Given the description of an element on the screen output the (x, y) to click on. 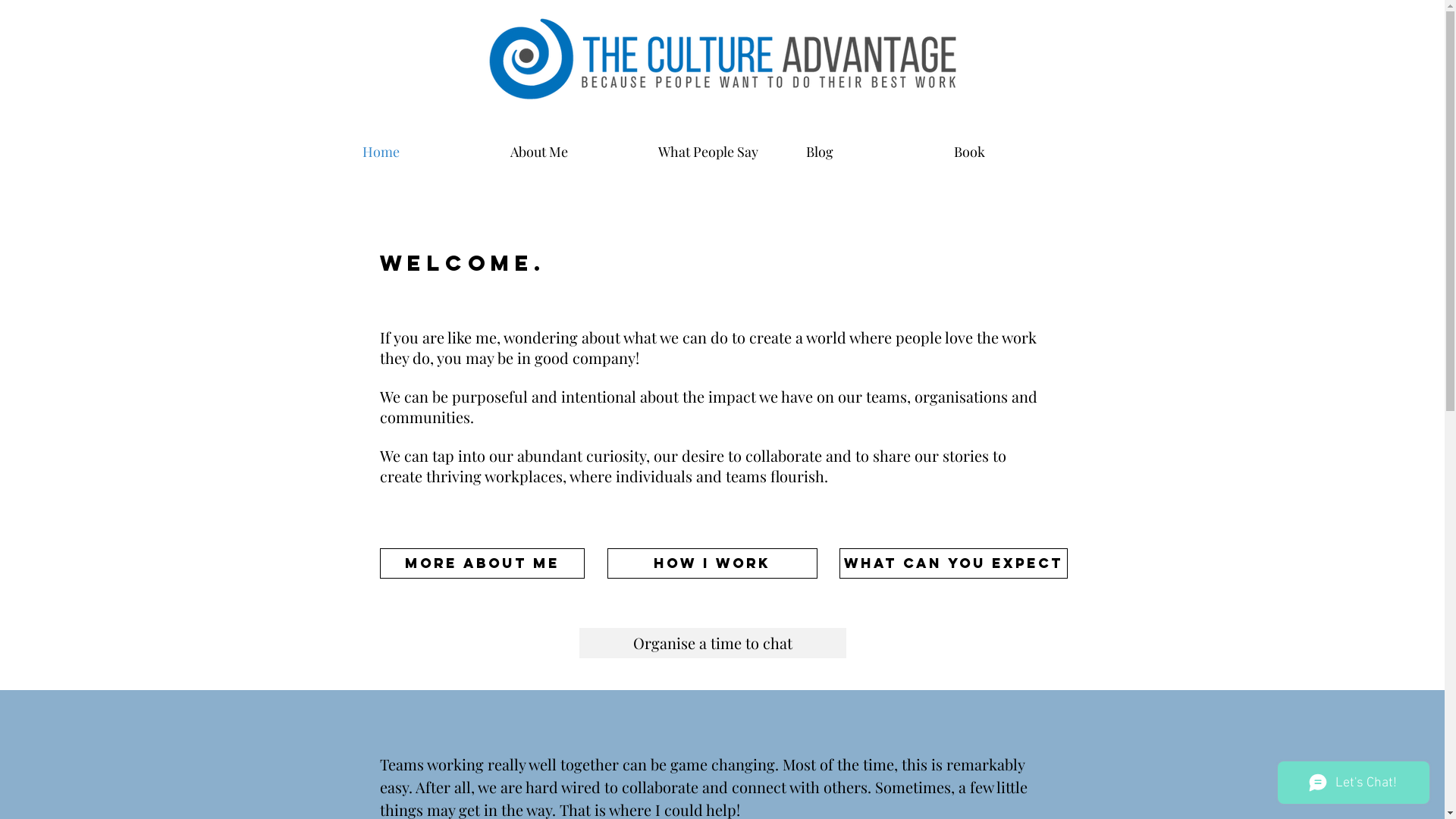
Home Element type: text (428, 151)
Book Element type: text (1020, 151)
What can you expect Element type: text (952, 563)
Blog Element type: text (871, 151)
More about me Element type: text (481, 563)
About Me Element type: text (575, 151)
TheCultureAdvantage Logo.png Element type: hover (722, 53)
Organise a time to chat Element type: text (712, 642)
What People Say Element type: text (724, 151)
Embedded Content Element type: hover (960, 52)
How I work Element type: text (711, 563)
